Given the description of an element on the screen output the (x, y) to click on. 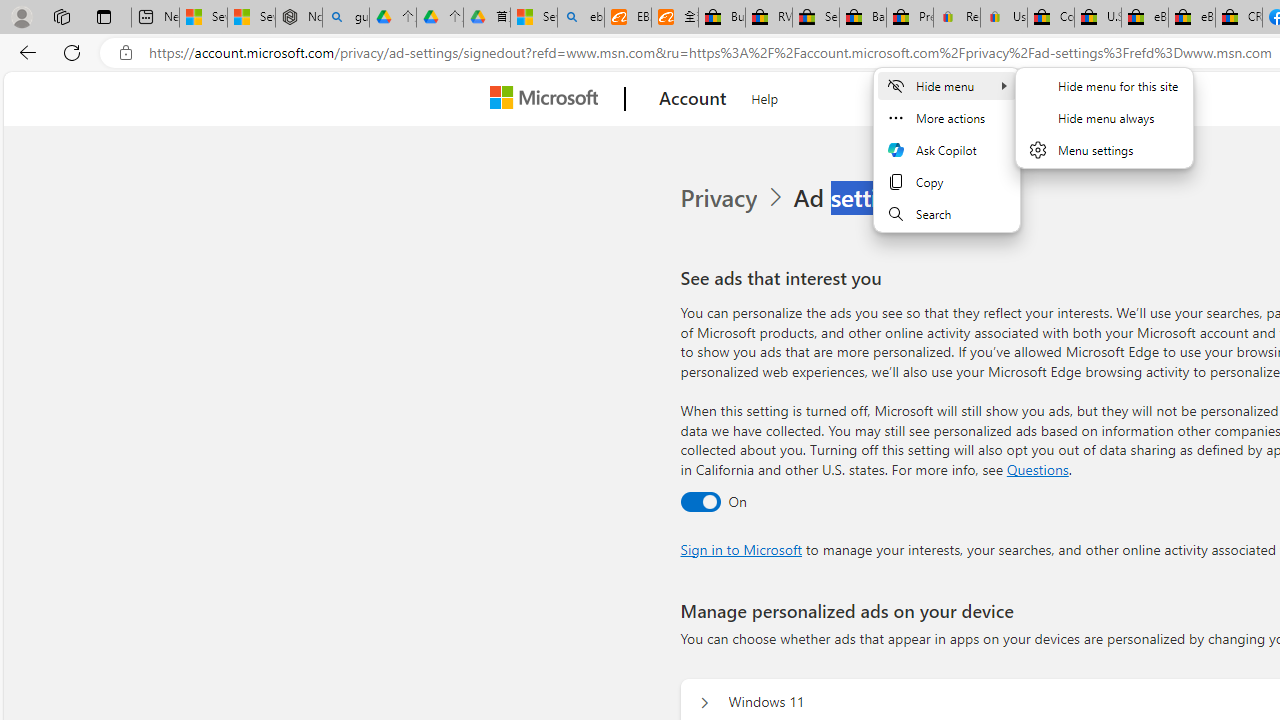
Mini menu on text selection (947, 149)
Consumer Health Data Privacy Policy - eBay Inc. (1050, 17)
RV, Trailer & Camper Steps & Ladders for sale | eBay (769, 17)
Help (765, 96)
Press Room - eBay Inc. (910, 17)
Refresh (72, 52)
User Privacy Notice | eBay (1003, 17)
View site information (125, 53)
Account (692, 99)
Hide menu (1104, 129)
Ask Copilot (947, 149)
New tab (155, 17)
Privacy (720, 197)
Back (24, 52)
